Given the description of an element on the screen output the (x, y) to click on. 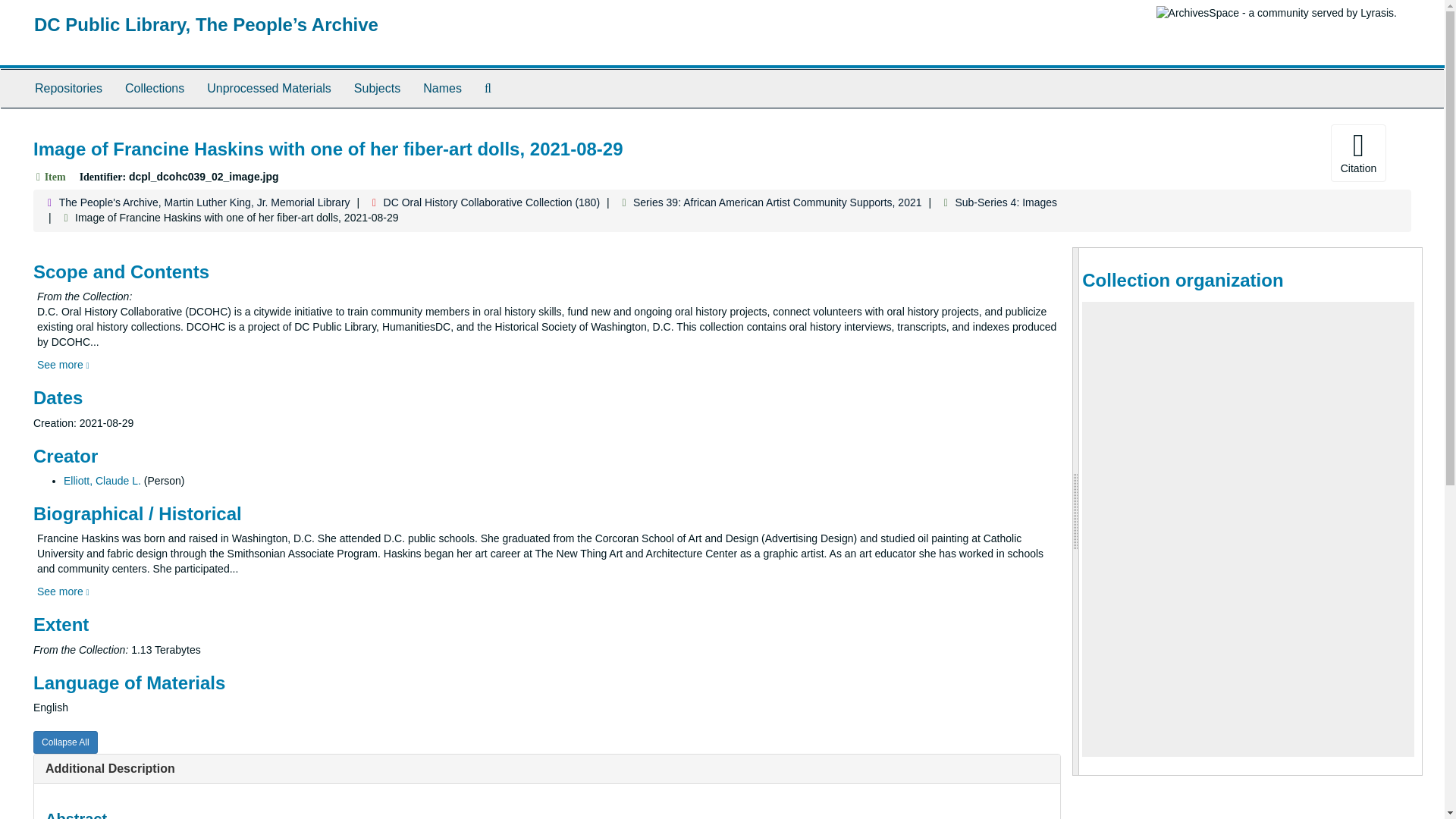
Series 39: African American Artist Community Supports, 2021 (777, 202)
Collections (154, 88)
Return to The DCPL People's Archive homepage (205, 24)
Unprocessed Materials (268, 88)
Citation (1358, 152)
See more (62, 591)
Elliott, Claude L. (102, 480)
Names (442, 88)
Subjects (377, 88)
